Given the description of an element on the screen output the (x, y) to click on. 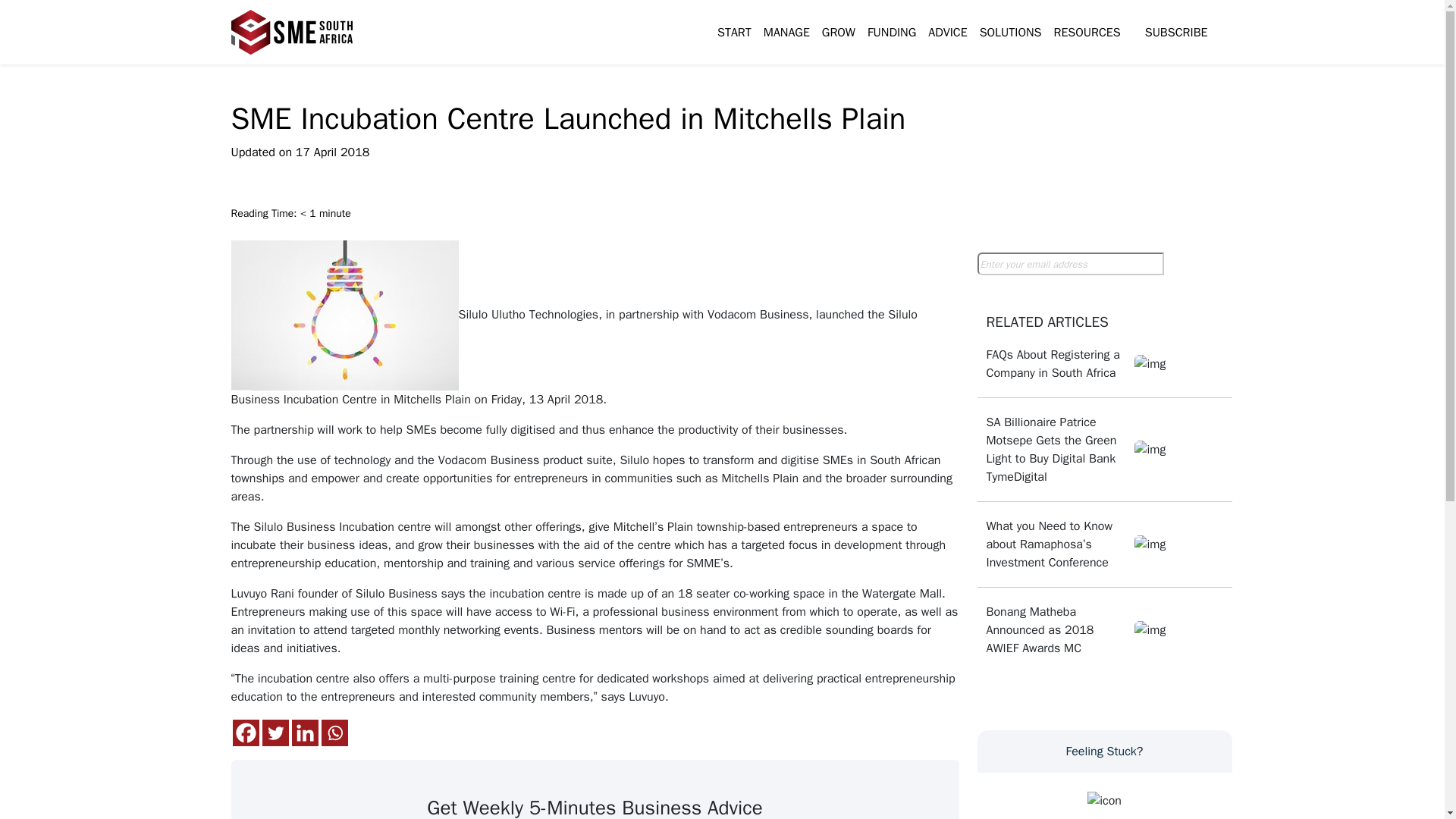
Twitter (275, 732)
Whatsapp (334, 732)
Linkedin (304, 732)
START (734, 32)
FAQs About Registering a Company in South Africa (1055, 363)
MANAGE (786, 32)
GROW (838, 32)
ADVICE (946, 32)
FUNDING (891, 32)
